Given the description of an element on the screen output the (x, y) to click on. 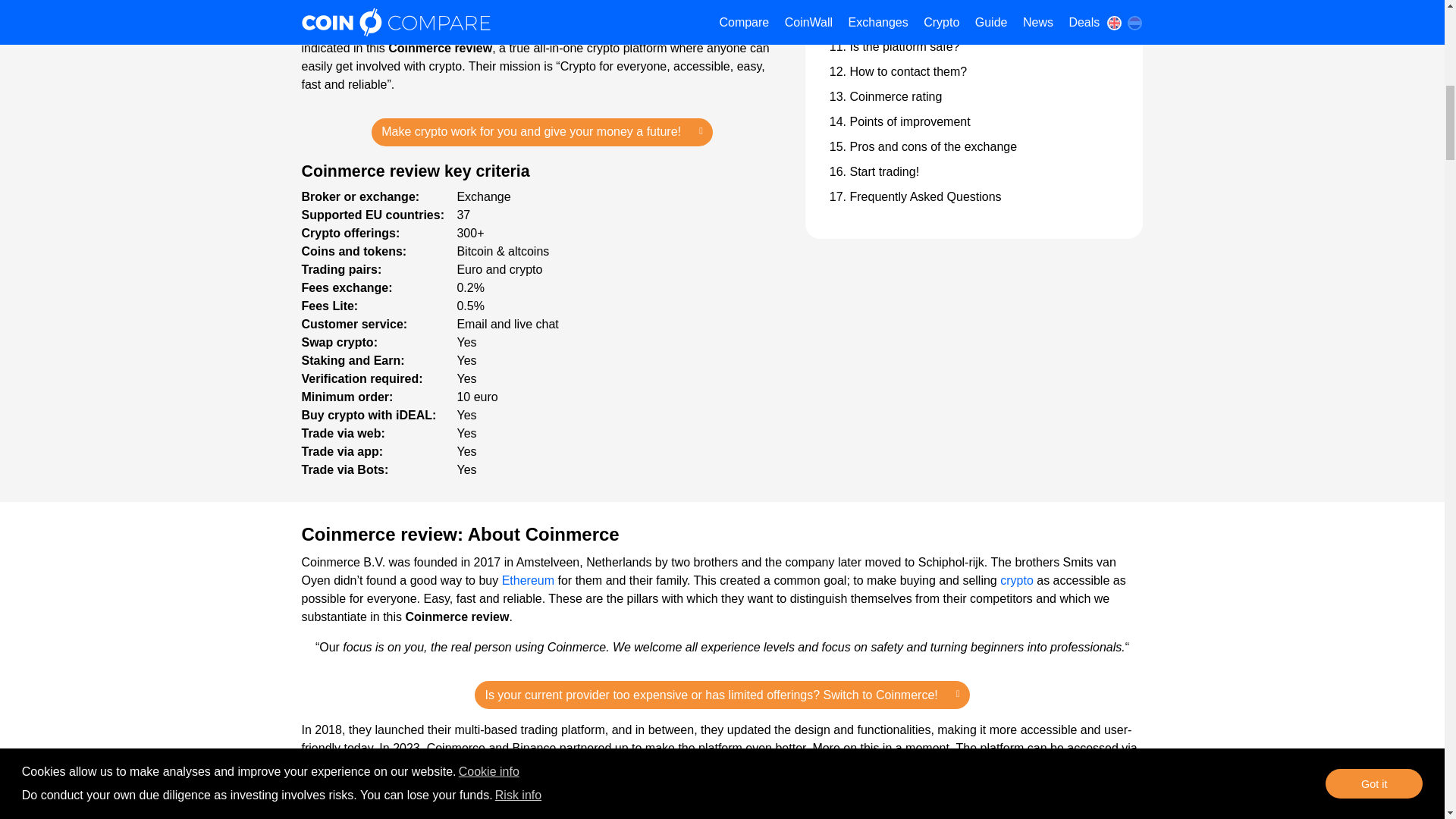
Make crypto work for you and give your money a future! (542, 132)
Coinmerce coins (893, 1)
Pros and cons of the exchange (932, 146)
Is the platform safe? (903, 46)
How to contact them? (907, 71)
Staking and Earn (347, 11)
Start trading! (883, 171)
Coinmerce rating (895, 96)
Coinmerce fees (891, 21)
Points of improvement (908, 121)
